Given the description of an element on the screen output the (x, y) to click on. 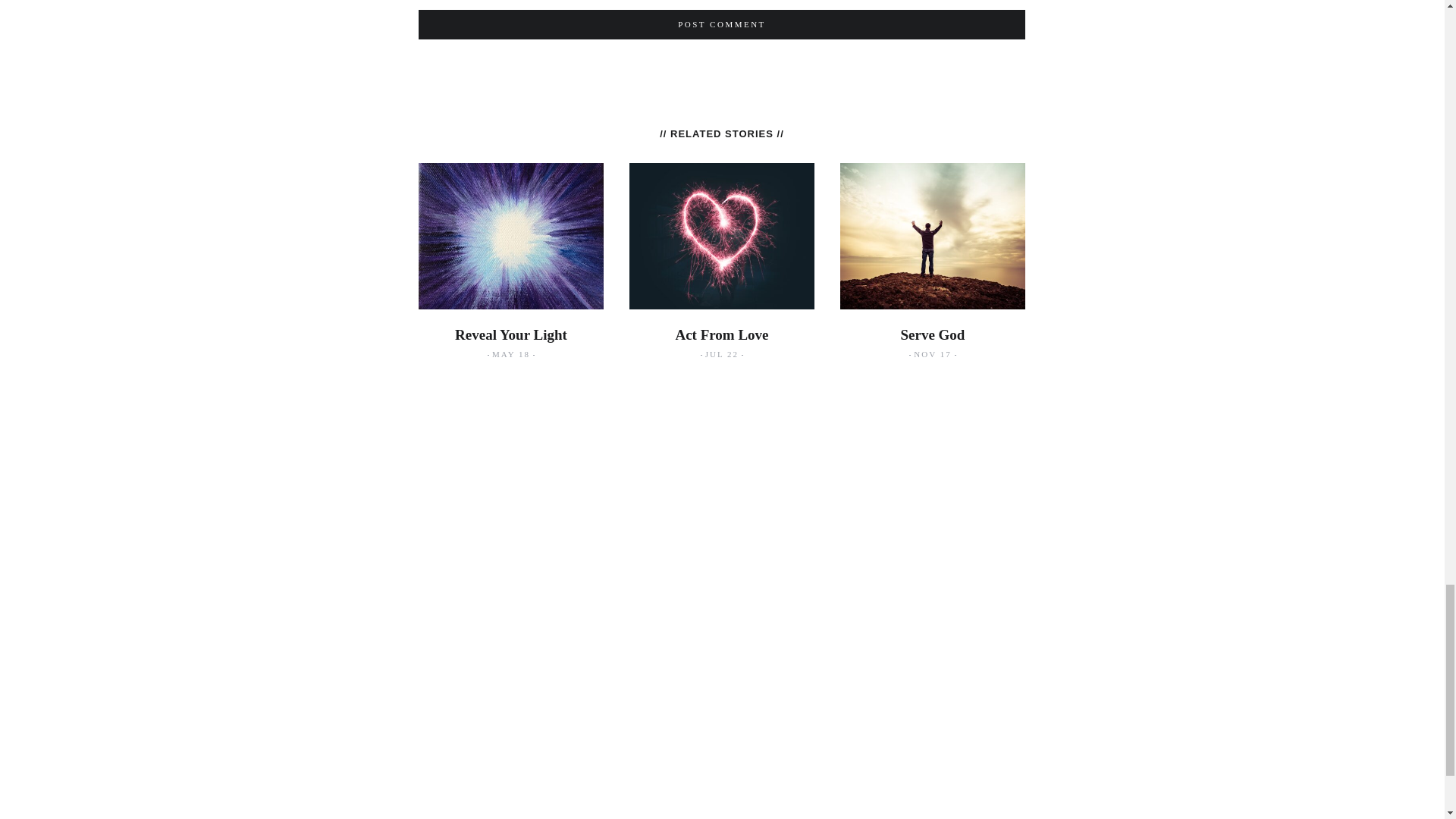
Post comment (722, 24)
Reveal Your Light (510, 334)
Act From Love (721, 334)
